Given the description of an element on the screen output the (x, y) to click on. 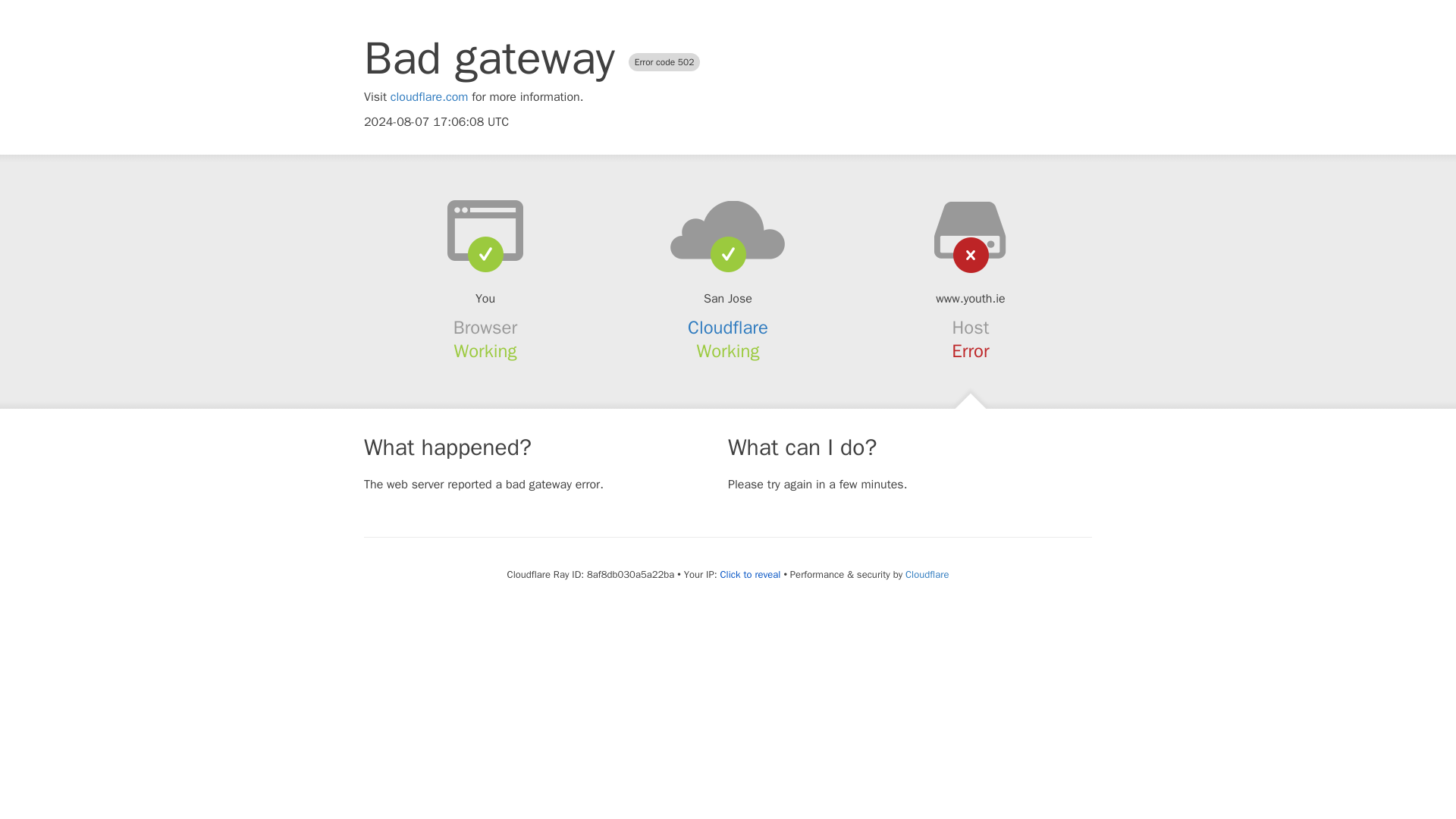
Cloudflare (927, 574)
Click to reveal (750, 574)
Cloudflare (727, 327)
cloudflare.com (429, 96)
